Given the description of an element on the screen output the (x, y) to click on. 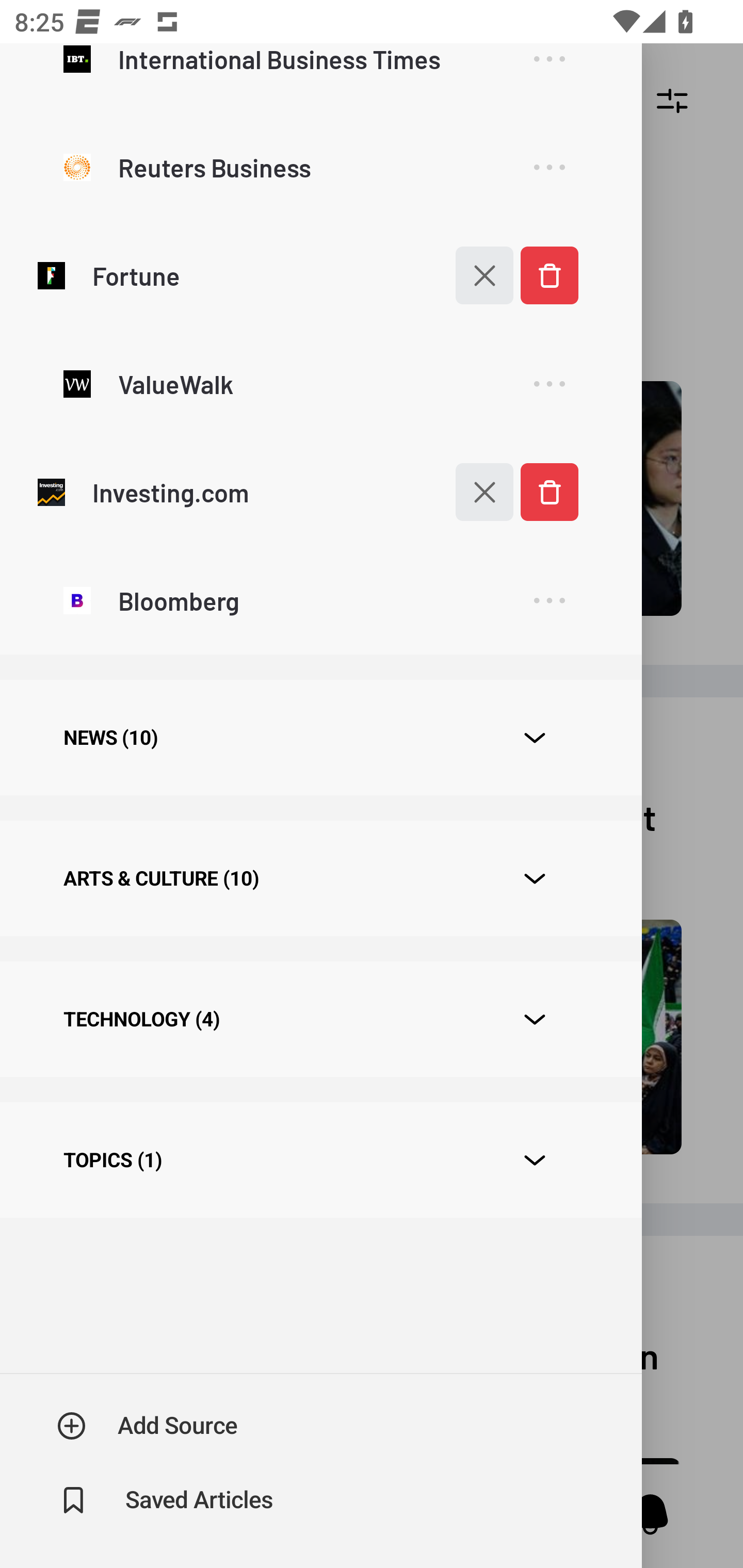
More Options (548, 72)
Writer Logo Reuters Business More Options (320, 166)
More Options (548, 167)
Writer Logo Fortune Cancel Action Remove Source (320, 275)
Cancel Action (473, 275)
Remove Source (548, 275)
Writer Logo ValueWalk More Options (320, 383)
More Options (548, 384)
Cancel Action (473, 491)
Remove Source (548, 491)
Writer Logo Bloomberg More Options (320, 599)
More Options (548, 601)
NEWS  (10) Expand Button (320, 737)
Expand Button (534, 737)
ARTS & CULTURE  (10) Expand Button (320, 878)
Expand Button (534, 878)
TECHNOLOGY  (4) Expand Button (320, 1019)
Expand Button (534, 1019)
TOPICS  (1) Expand Button (320, 1160)
Expand Button (534, 1160)
Open Content Store Add Source (147, 1425)
Open Saved News  Saved Articles (166, 1500)
